Given the description of an element on the screen output the (x, y) to click on. 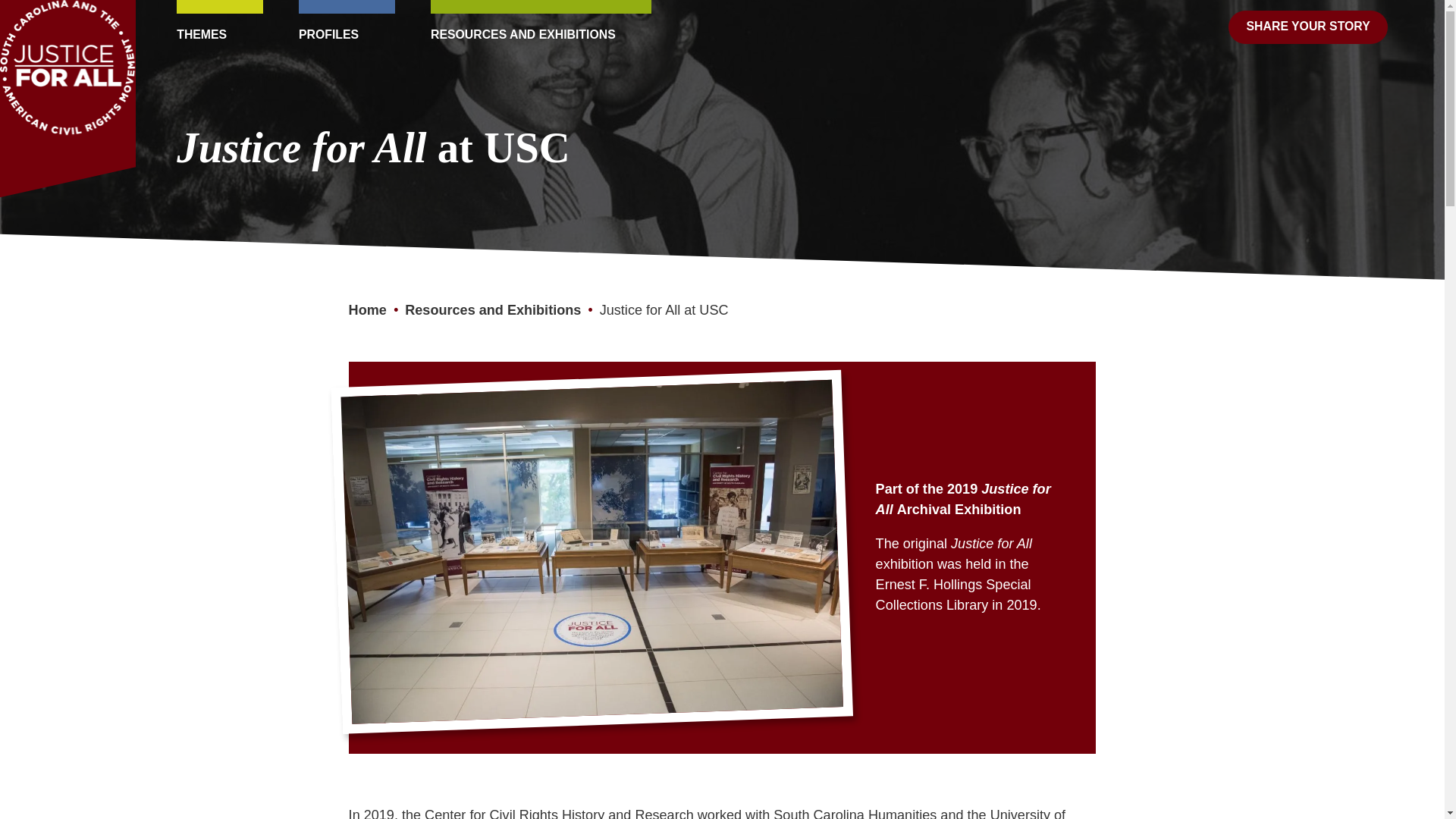
Home (368, 309)
Resources and Exhibitions (492, 309)
PROFILES (346, 25)
SHARE YOUR STORY (1308, 27)
THEMES (219, 25)
RESOURCES AND EXHIBITIONS (540, 25)
